Given the description of an element on the screen output the (x, y) to click on. 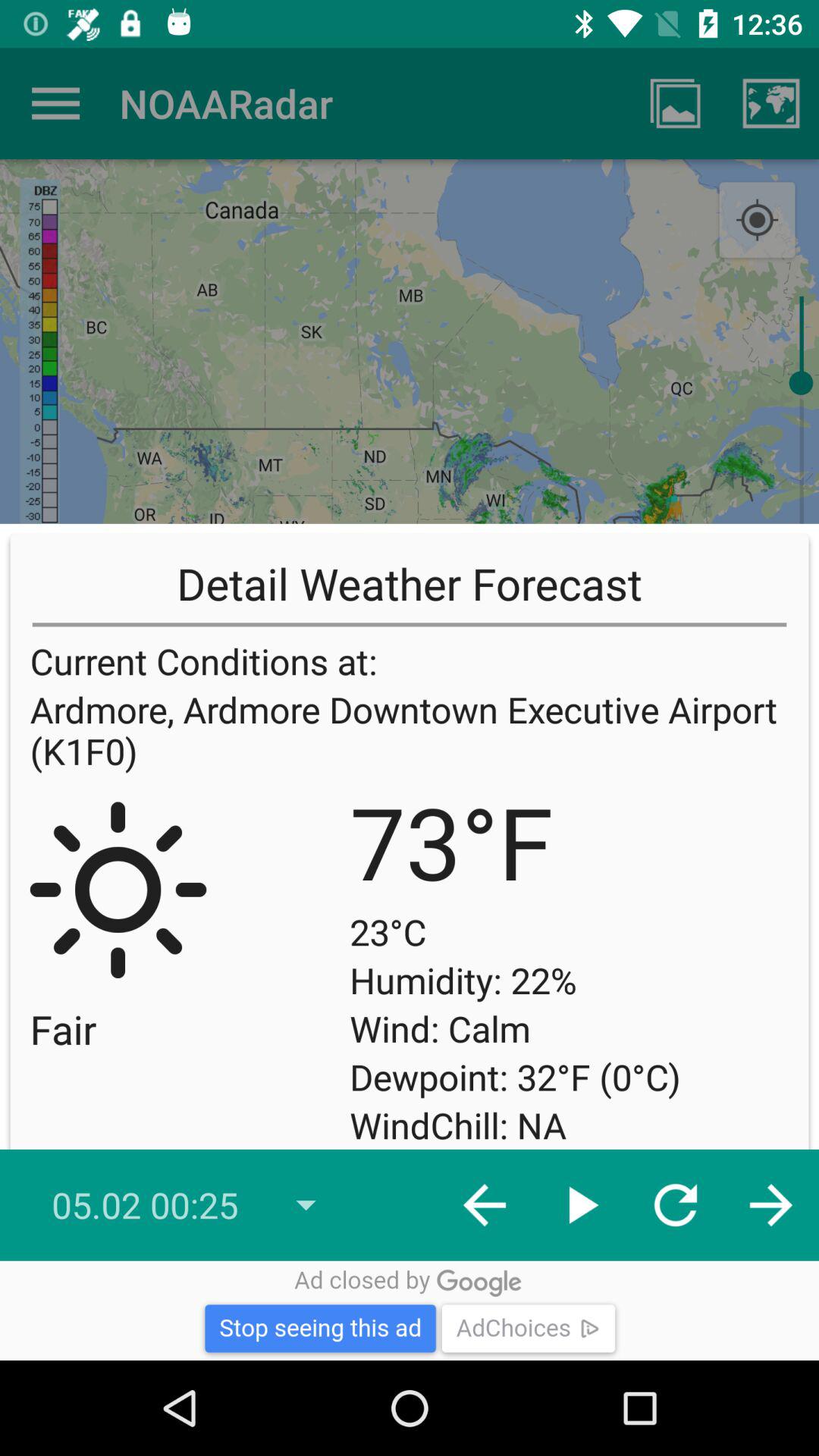
go to menu (55, 103)
